Given the description of an element on the screen output the (x, y) to click on. 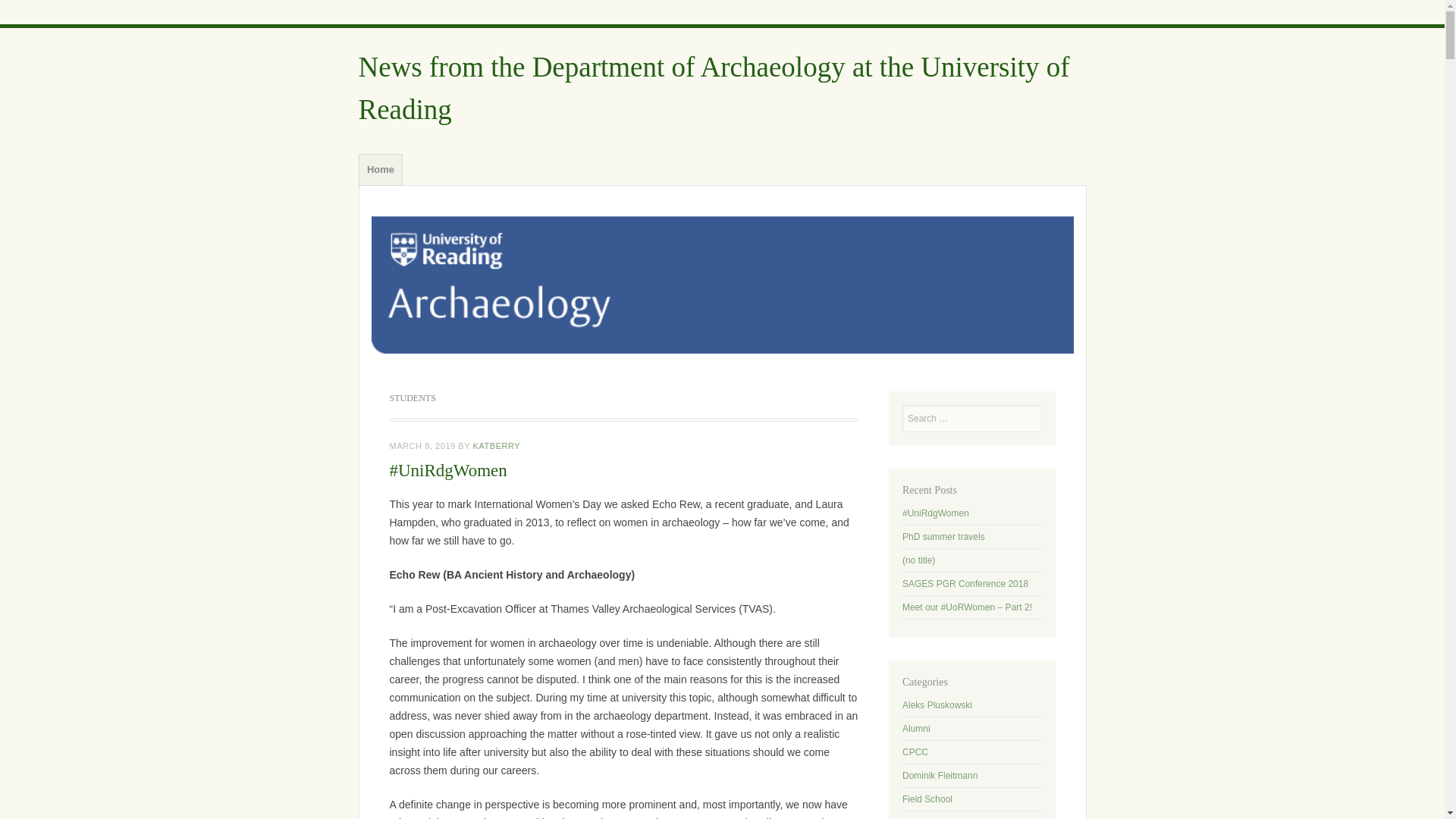
MARCH 8, 2019 (422, 445)
KATBERRY (497, 445)
Skip to content (398, 157)
View all posts by katberry (497, 445)
Skip to content (398, 157)
Home (380, 169)
10:28 am (422, 445)
